Given the description of an element on the screen output the (x, y) to click on. 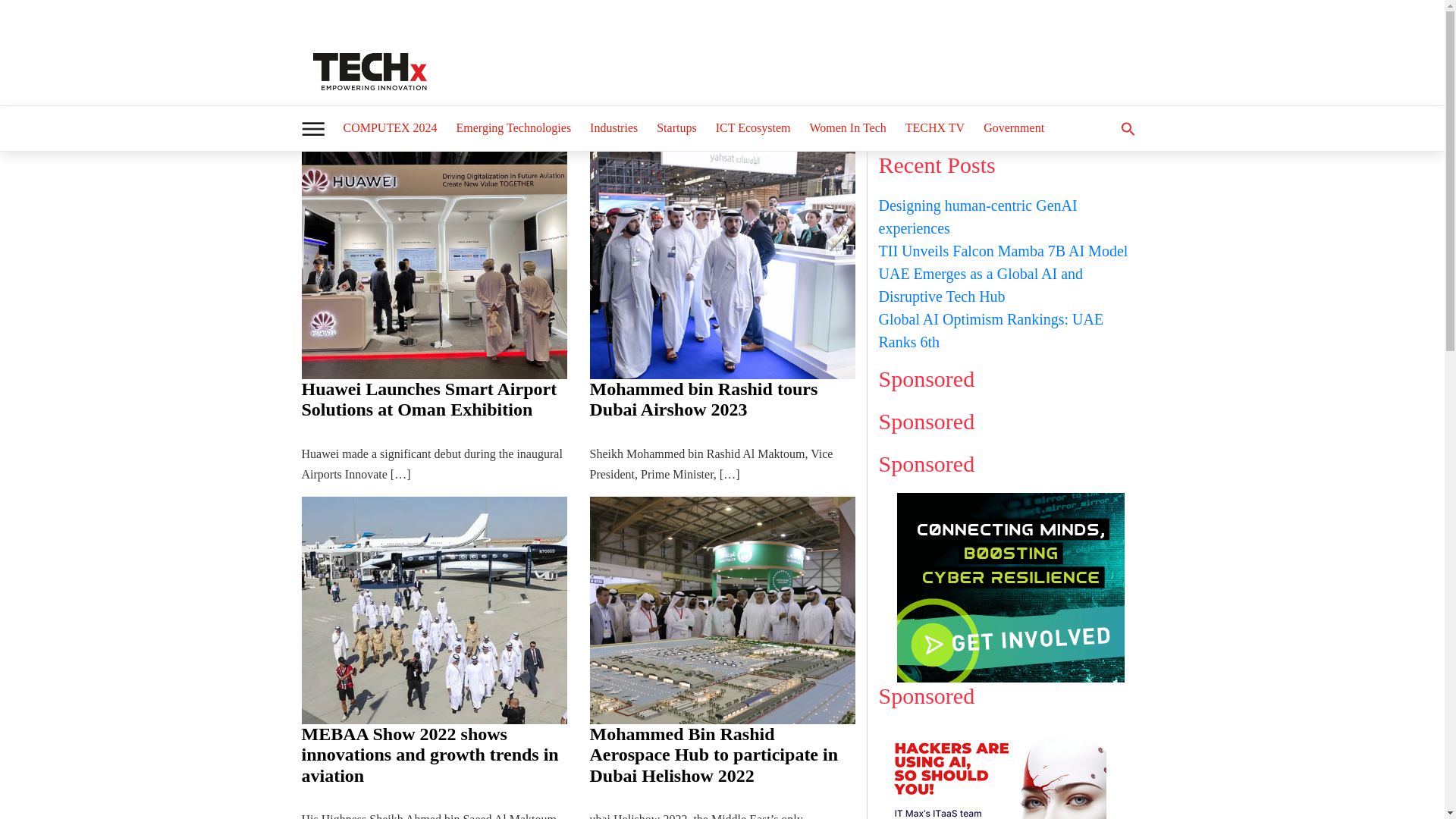
Industries (613, 127)
TECHX TV (935, 127)
Women In Tech (847, 127)
COMPUTEX 2024 (389, 127)
Government (1013, 127)
ICT Ecosystem (752, 127)
Startups (676, 127)
Emerging Technologies (513, 127)
